Given the description of an element on the screen output the (x, y) to click on. 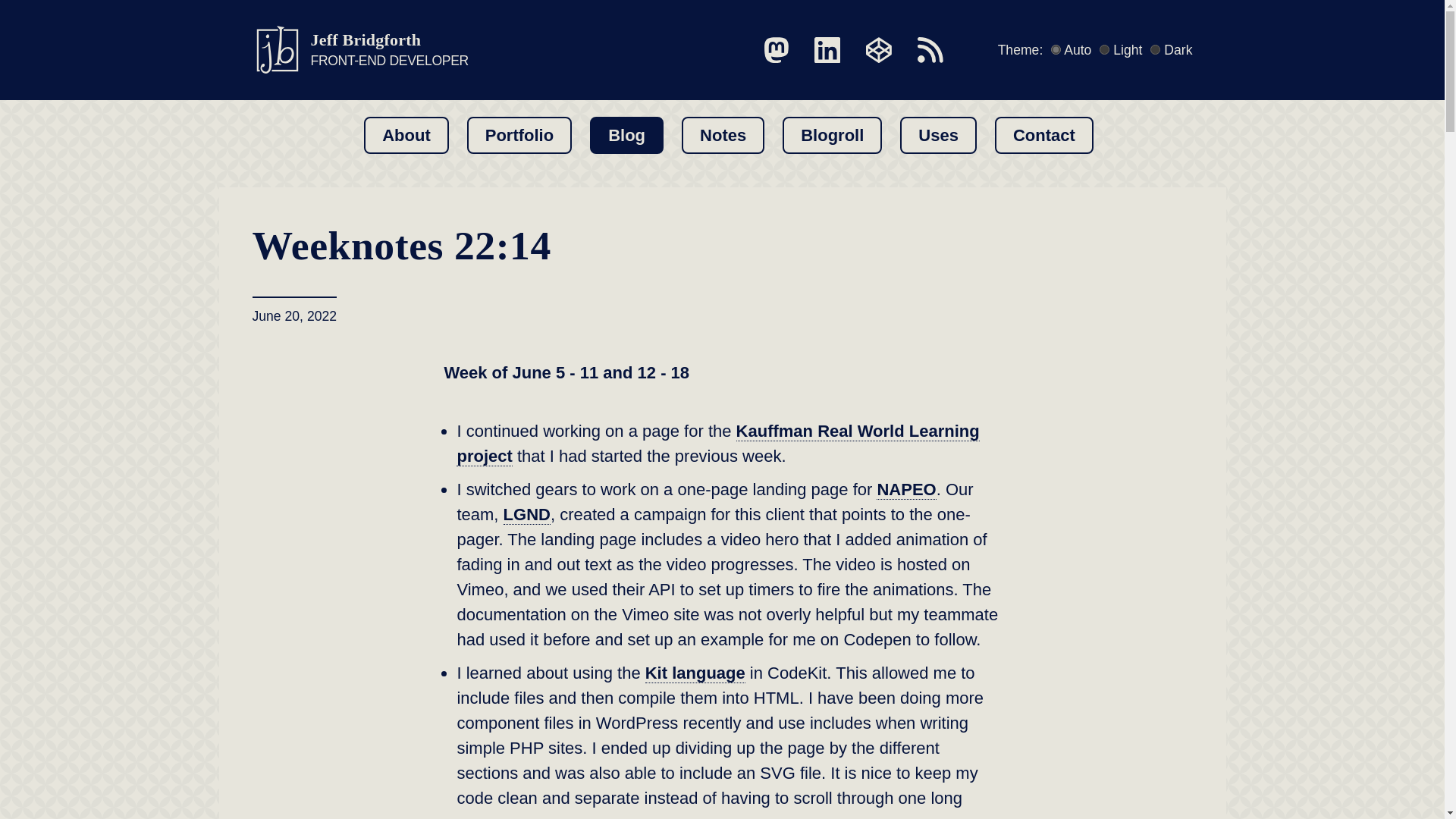
Blog (626, 135)
Portfolio (519, 135)
Contact (1043, 135)
LGND (526, 514)
Kit language (695, 673)
Codepen (878, 49)
Mastodon (776, 49)
Notes (722, 135)
Feed (929, 49)
Uses (937, 135)
